Given the description of an element on the screen output the (x, y) to click on. 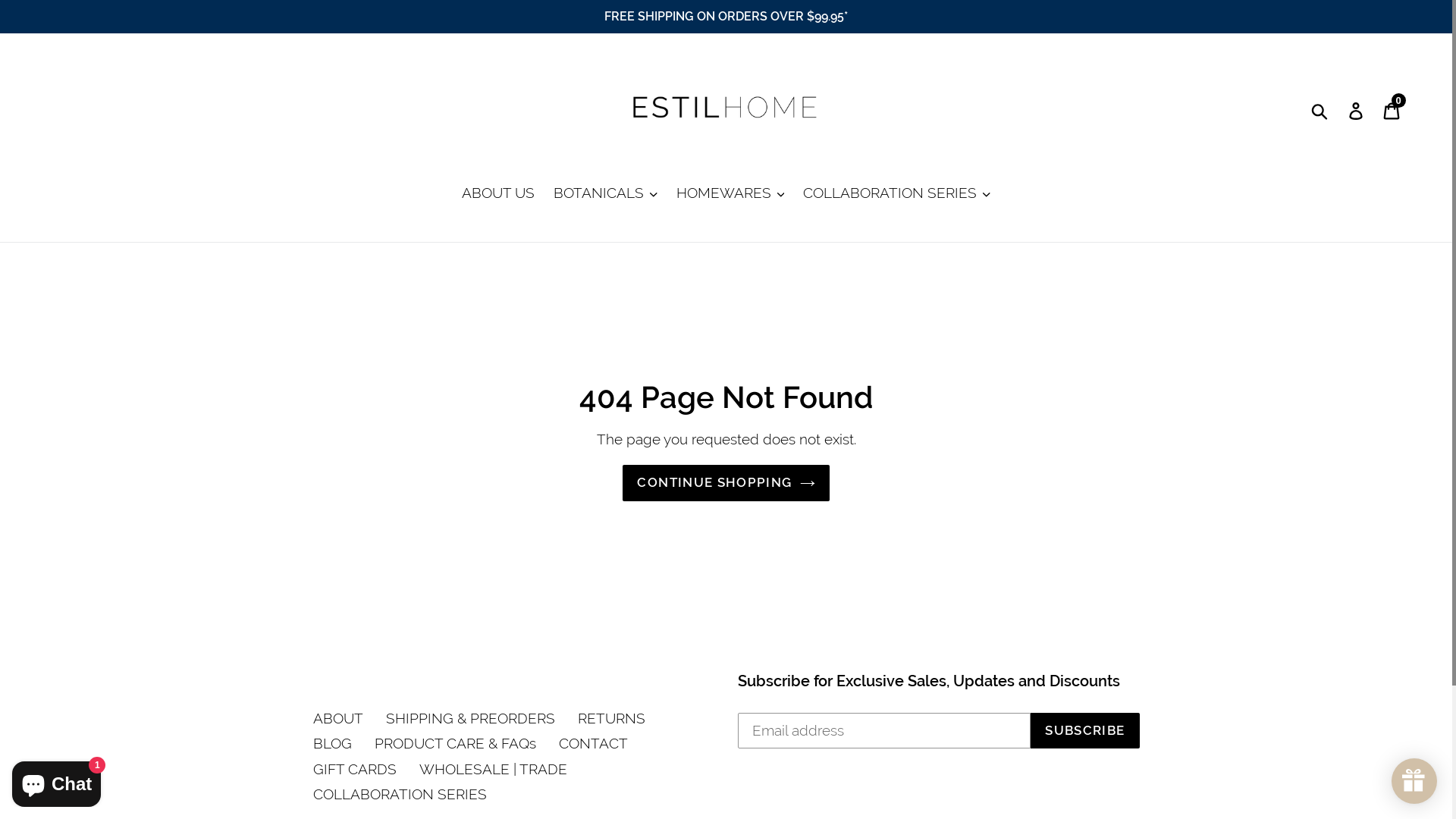
Log in Element type: text (1356, 109)
SUBSCRIBE Element type: text (1084, 730)
Cart
0 Element type: text (1392, 109)
GIFT CARDS Element type: text (353, 768)
SHIPPING & PREORDERS Element type: text (469, 717)
WHOLESALE | TRADE Element type: text (492, 768)
ABOUT US Element type: text (498, 194)
COLLABORATION SERIES Element type: text (399, 793)
PRODUCT CARE & FAQs Element type: text (455, 742)
Submit Element type: text (1320, 109)
Shopify online store chat Element type: hover (56, 780)
FREE SHIPPING ON ORDERS OVER $99.95* Element type: text (726, 16)
BLOG Element type: text (331, 742)
RETURNS Element type: text (611, 717)
CONTINUE SHOPPING Element type: text (725, 482)
CONTACT Element type: text (592, 742)
ABOUT Element type: text (337, 717)
